Given the description of an element on the screen output the (x, y) to click on. 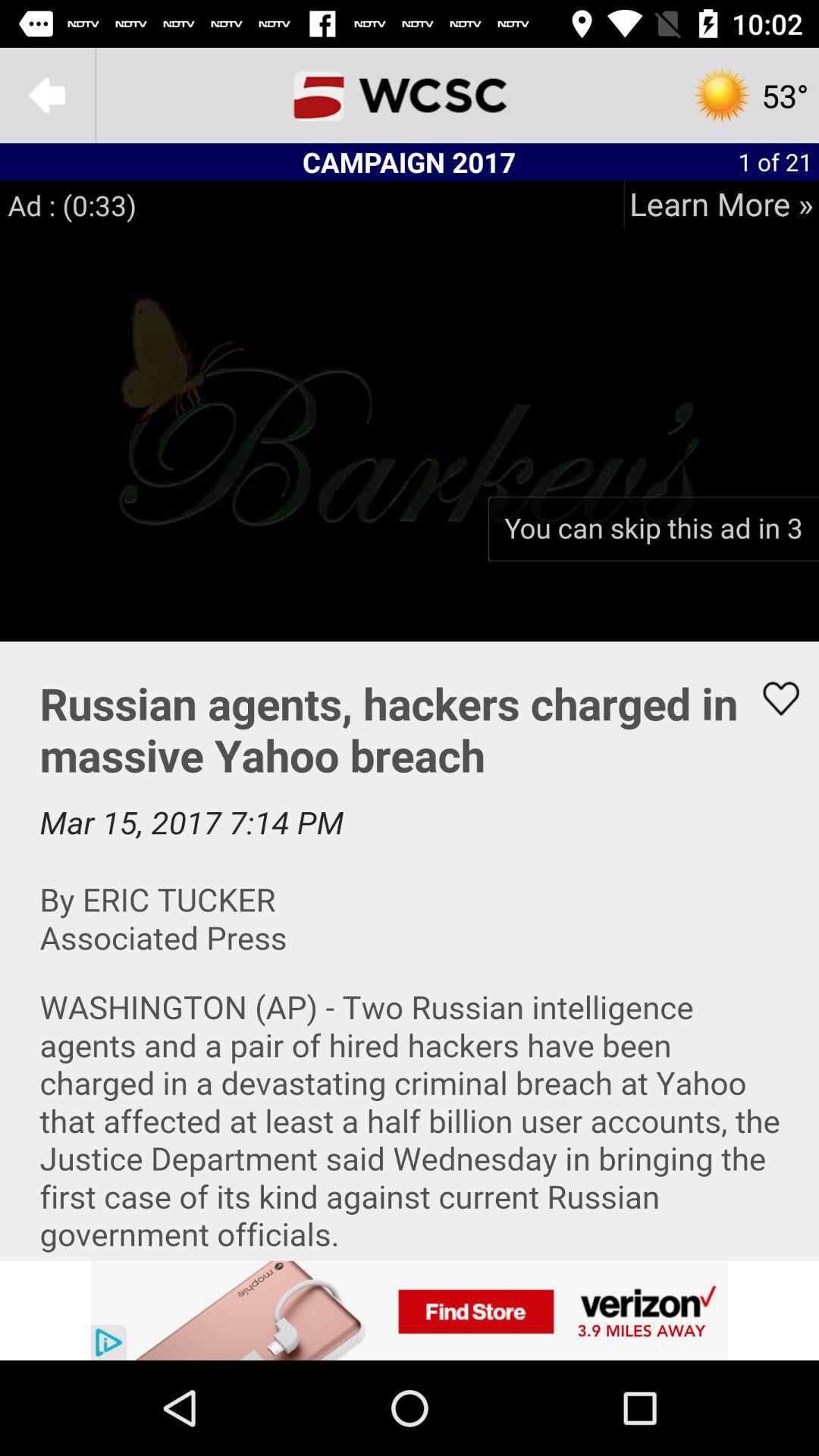
share the article (409, 950)
